Given the description of an element on the screen output the (x, y) to click on. 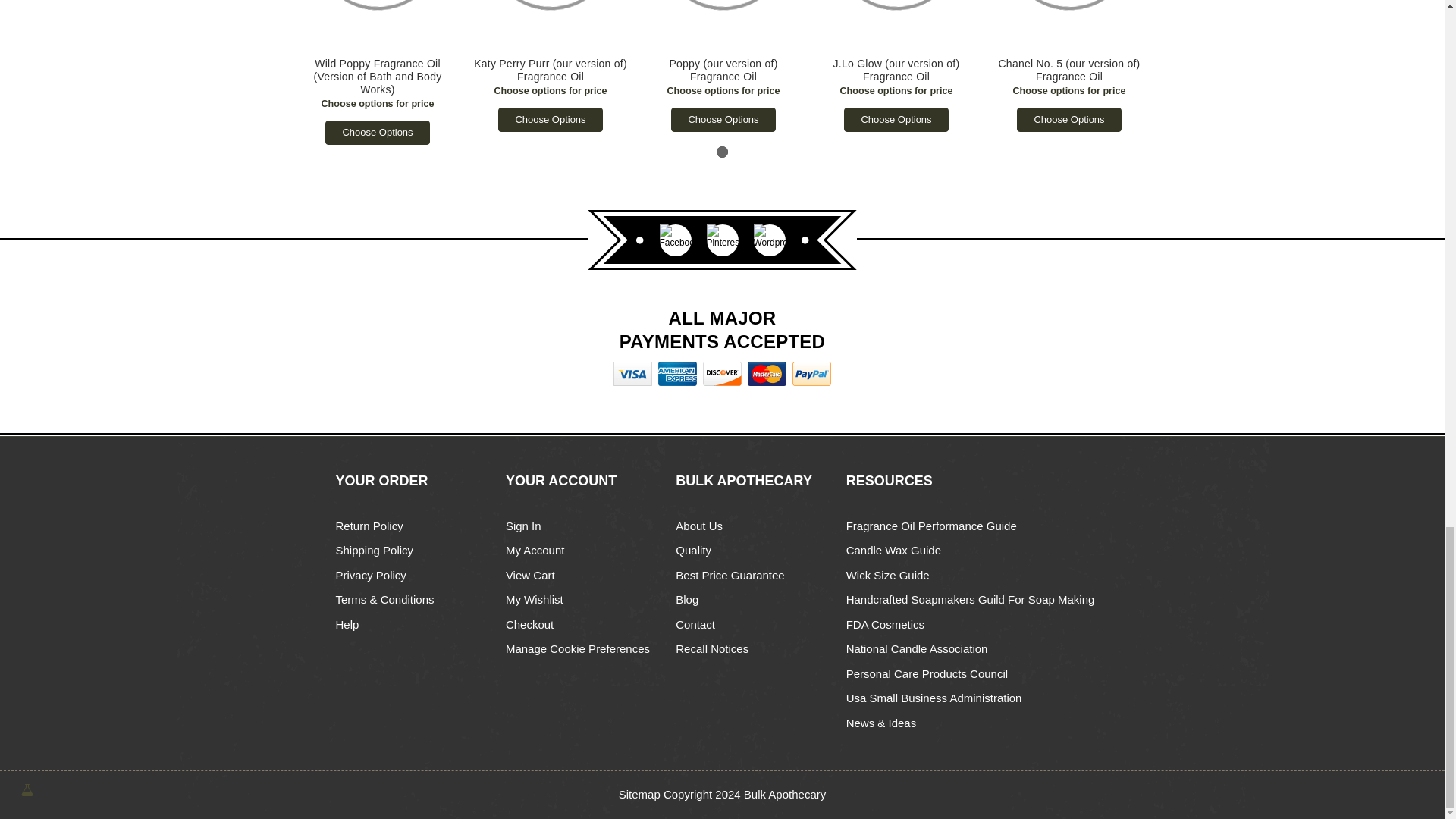
View Cart (529, 574)
Chanel No. 5 Fragrance Oil (1068, 24)
Manage Cookie Preferences (577, 648)
Sign In (523, 525)
My Wishlist (534, 599)
Checkout (529, 624)
Pure Wild Poppy Fragrance Oil (376, 24)
My Account (534, 549)
